Given the description of an element on the screen output the (x, y) to click on. 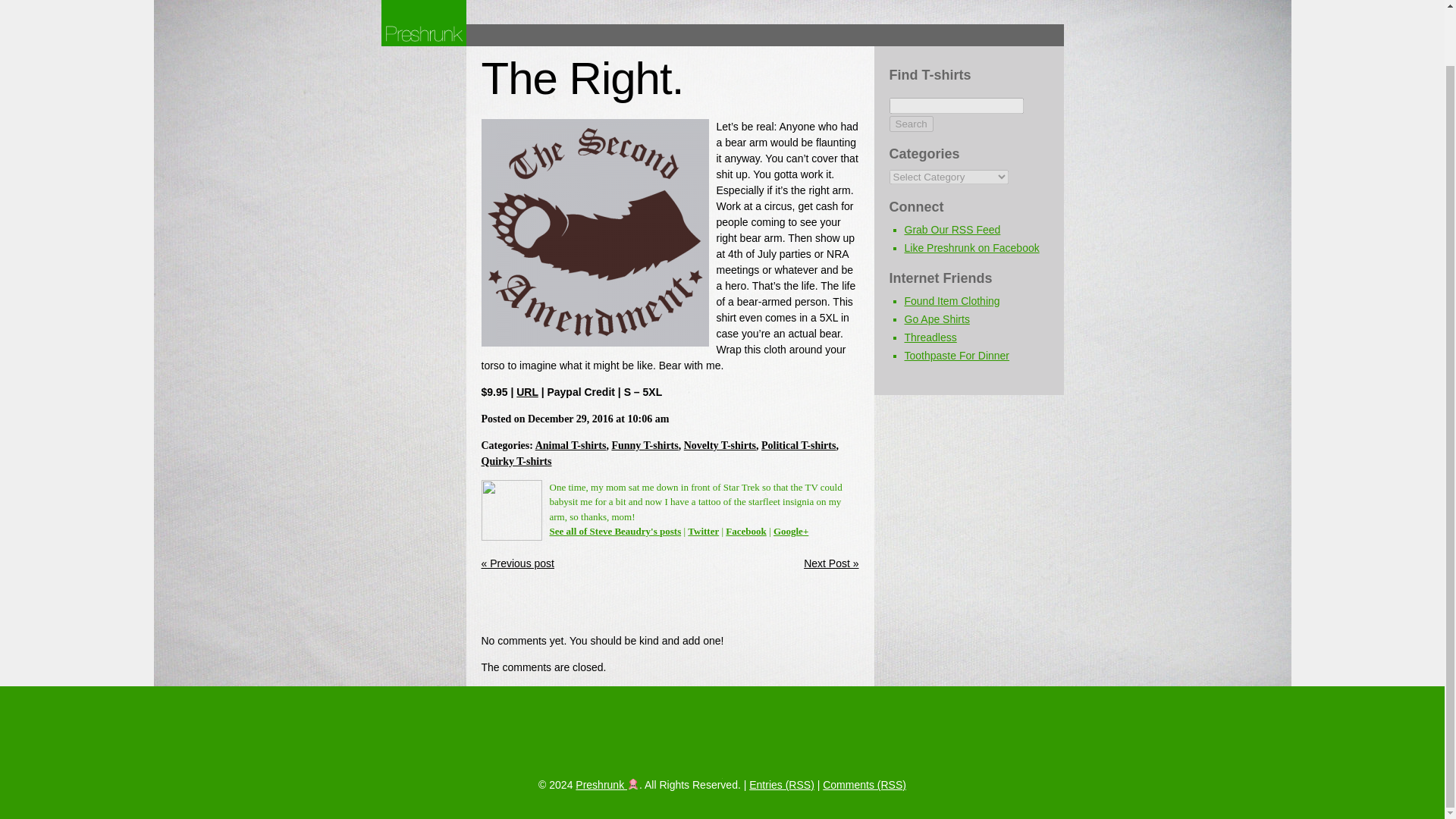
Preshrunk (607, 784)
Funny T-shirts (644, 445)
Advertisement (657, 605)
Found Item Clothing (951, 300)
Animal T-shirts (571, 445)
Go Ape Shirts (936, 318)
Quirky T-shirts (515, 460)
Search (910, 123)
The Right. (581, 78)
Search (910, 123)
